Given the description of an element on the screen output the (x, y) to click on. 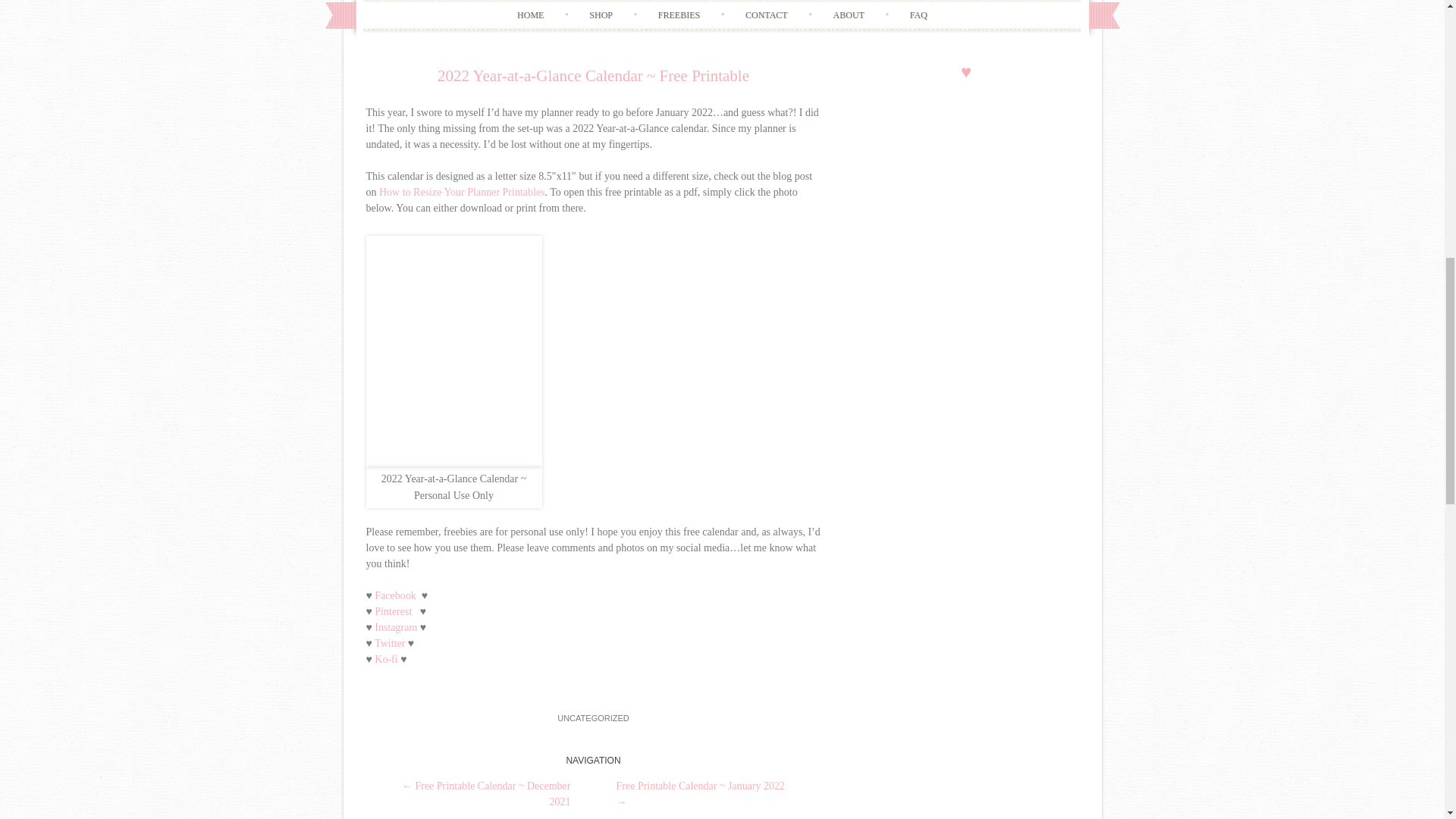
HOME (530, 14)
Twitter  (390, 643)
ABOUT (848, 14)
How to Resize Your Planner Printables (461, 192)
Facebook (394, 595)
Ko-fi (385, 659)
UNCATEGORIZED (592, 717)
FREEBIES (678, 14)
FAQ (917, 14)
Instagram (395, 627)
CONTACT (766, 14)
SHOP (600, 14)
Pinterest (393, 611)
